Given the description of an element on the screen output the (x, y) to click on. 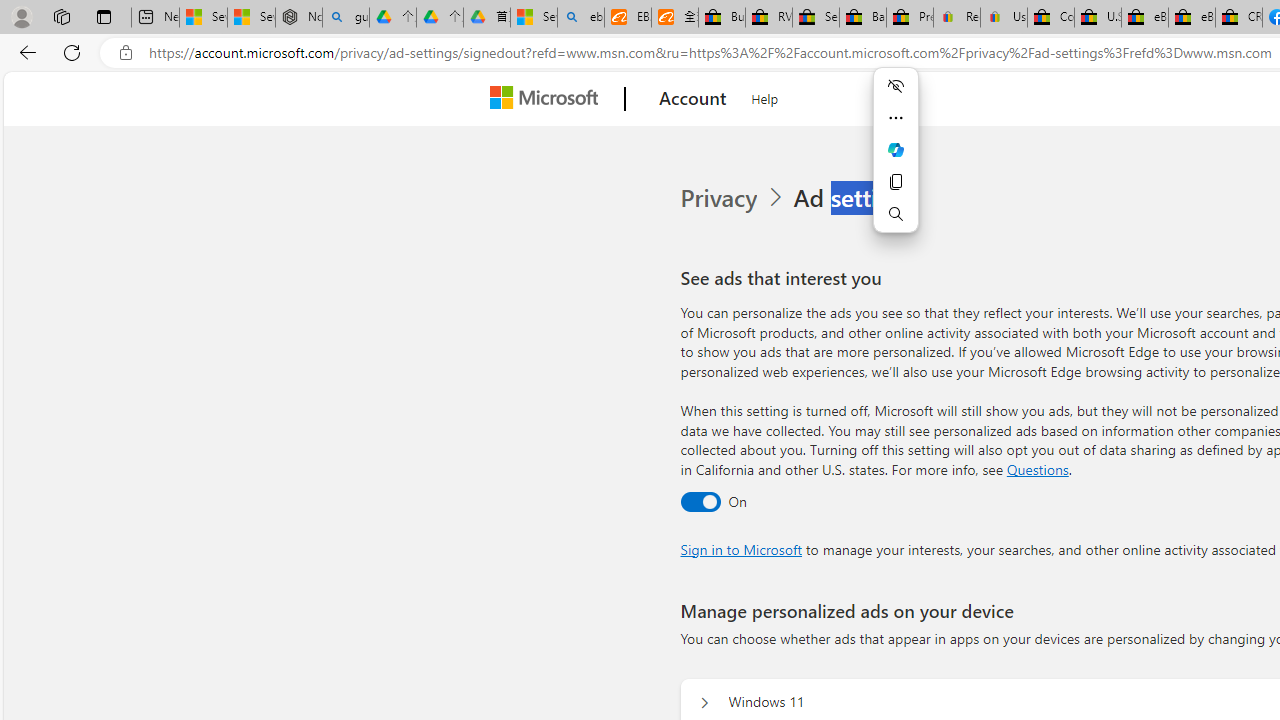
eBay Inc. Reports Third Quarter 2023 Results (1191, 17)
Privacy (734, 197)
Register: Create a personal eBay account (957, 17)
Privacy (720, 197)
Help (765, 96)
Mini menu on text selection (895, 149)
Ask Copilot (895, 149)
Ad settings toggle (699, 501)
Consumer Health Data Privacy Policy - eBay Inc. (1050, 17)
Press Room - eBay Inc. (910, 17)
